Given the description of an element on the screen output the (x, y) to click on. 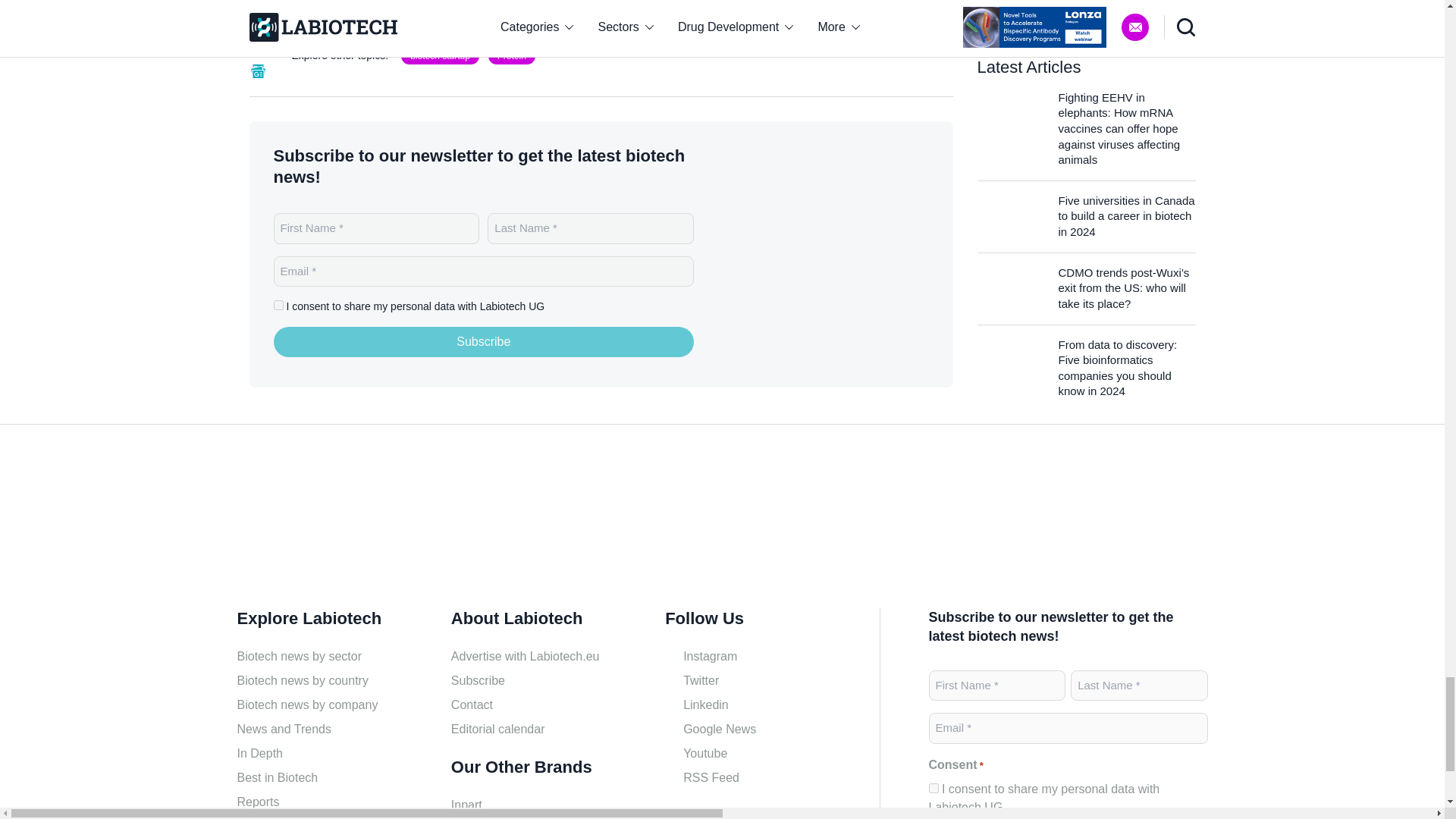
Labiotech.eu (834, 254)
1 (932, 787)
Subscribe (483, 341)
1 (277, 305)
